Given the description of an element on the screen output the (x, y) to click on. 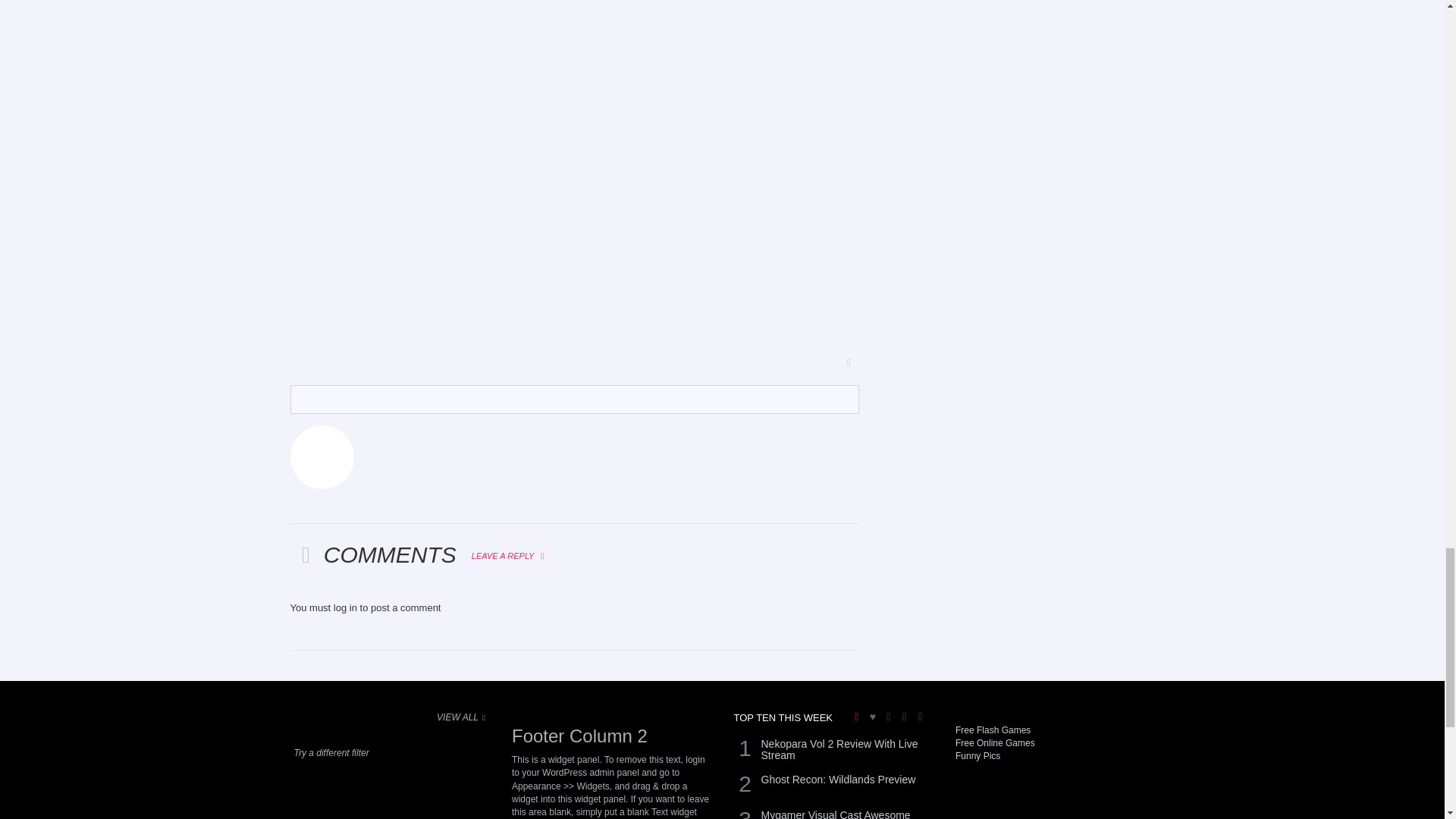
See all posts from this author (300, 392)
See all posts from this author (322, 457)
log in (344, 607)
